Given the description of an element on the screen output the (x, y) to click on. 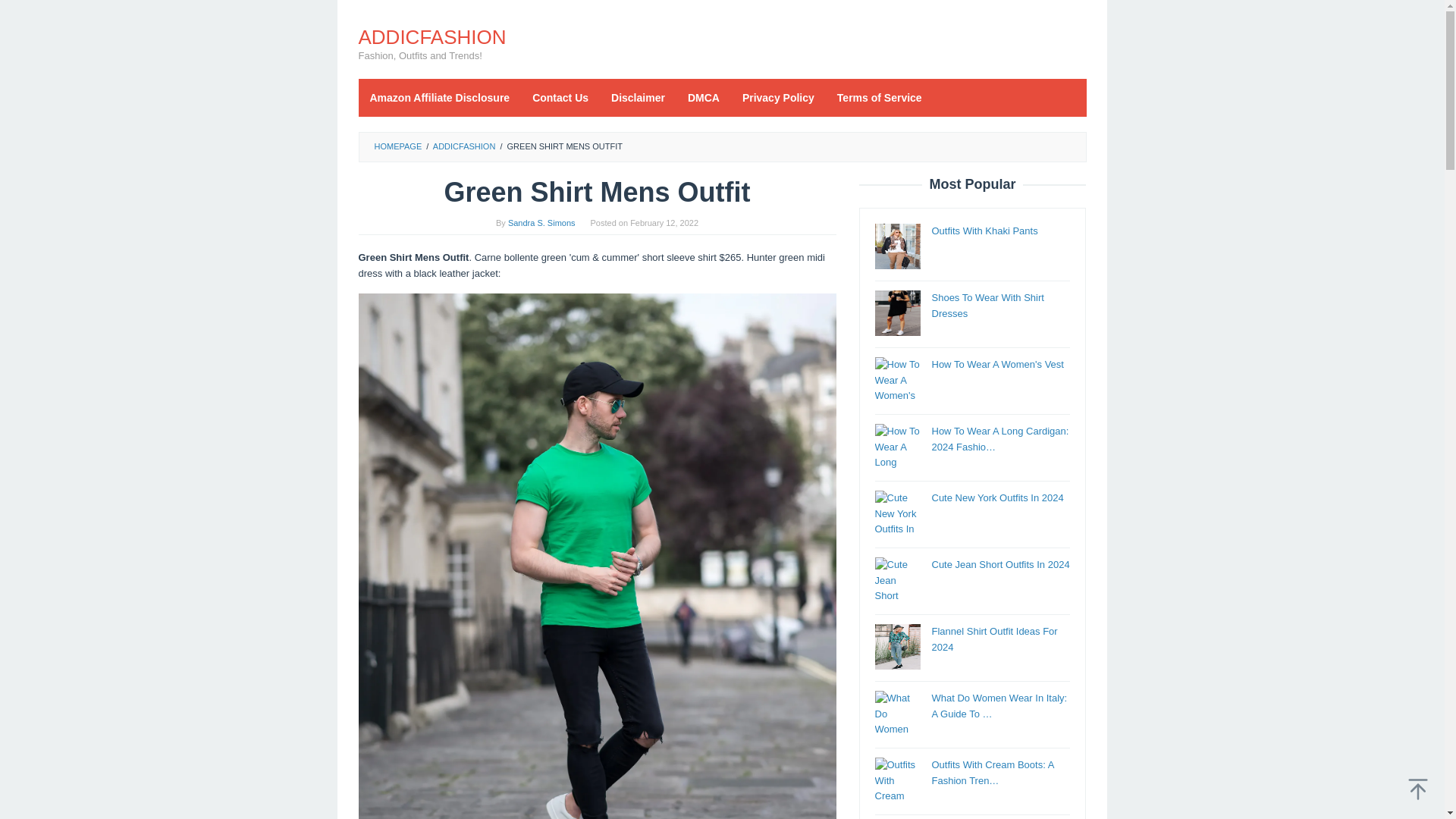
ADDICFASHION (431, 36)
Shoes To Wear With Shirt Dresses (987, 305)
Contact Us (560, 97)
Permalink to: Sandra S. Simons (541, 222)
How To Wear A Women's Vest (996, 364)
Cute New York Outfits In 2024 (996, 497)
Disclaimer (638, 97)
Cute Jean Short Outfits In 2024 (999, 564)
Terms of Service (879, 97)
Privacy Policy (777, 97)
